Given the description of an element on the screen output the (x, y) to click on. 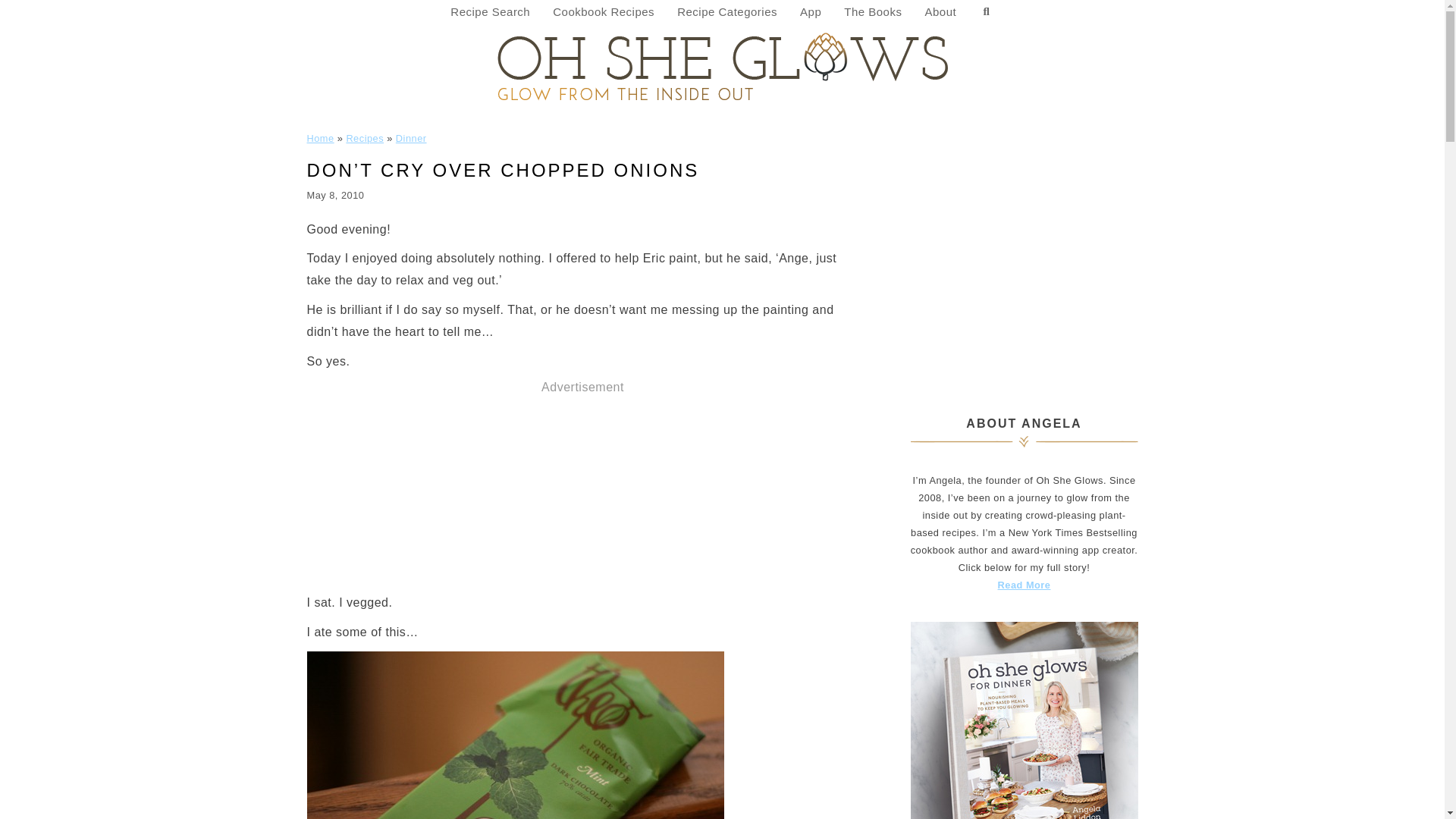
Recipe Search (490, 11)
Oh She Glows (722, 65)
Home (319, 138)
The Books (872, 11)
Cookbook Recipes (603, 11)
Search (986, 11)
Recipe Categories (727, 11)
App (810, 11)
Recipes (365, 138)
About (940, 11)
Oh She Glows (721, 64)
Dinner (411, 138)
